Given the description of an element on the screen output the (x, y) to click on. 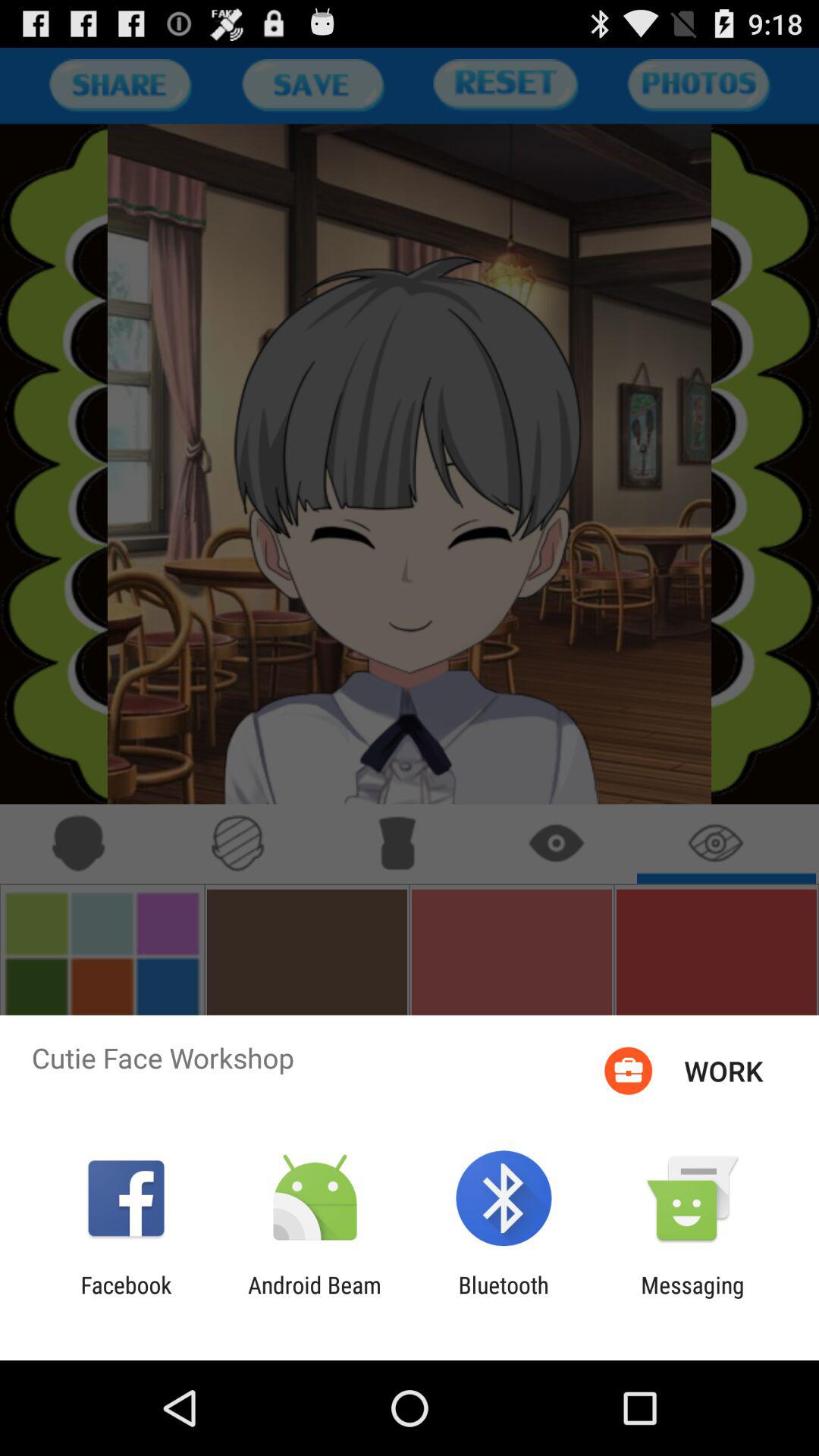
open bluetooth (503, 1298)
